Given the description of an element on the screen output the (x, y) to click on. 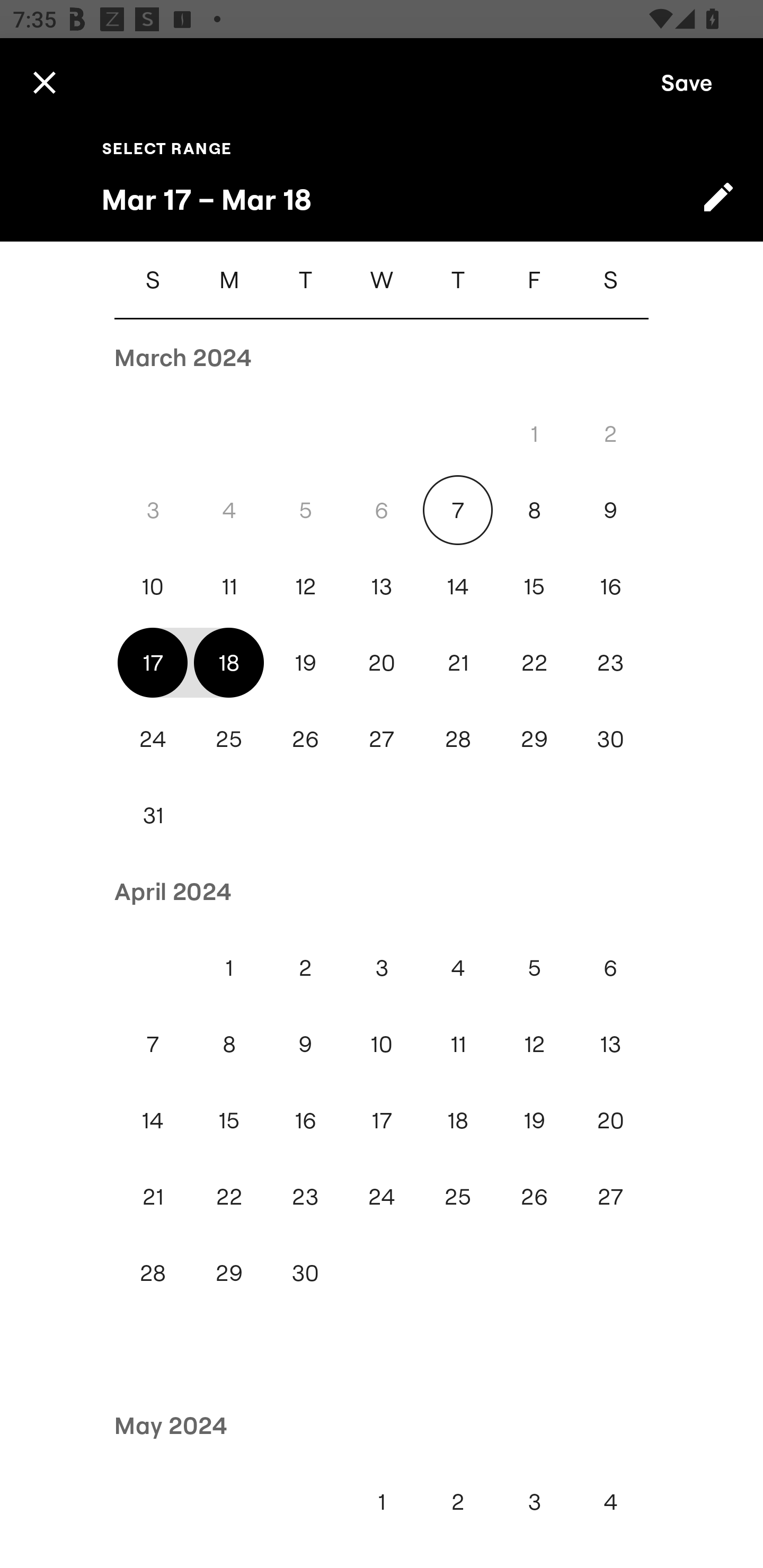
Cancel (44, 81)
Save (686, 81)
Switch to text input mode (718, 196)
1 Fri, Mar 1 (533, 433)
2 Sat, Mar 2 (610, 433)
3 Sun, Mar 3 (152, 509)
4 Mon, Mar 4 (228, 509)
5 Tue, Mar 5 (305, 509)
6 Wed, Mar 6 (381, 509)
7 Thu, Mar 7 (457, 509)
8 Fri, Mar 8 (533, 509)
9 Sat, Mar 9 (610, 509)
10 Sun, Mar 10 (152, 586)
11 Mon, Mar 11 (228, 586)
12 Tue, Mar 12 (305, 586)
13 Wed, Mar 13 (381, 586)
14 Thu, Mar 14 (457, 586)
15 Fri, Mar 15 (533, 586)
16 Sat, Mar 16 (610, 586)
17 Sun, Mar 17 (152, 662)
18 Mon, Mar 18 (228, 662)
19 Tue, Mar 19 (305, 662)
20 Wed, Mar 20 (381, 662)
21 Thu, Mar 21 (457, 662)
22 Fri, Mar 22 (533, 662)
23 Sat, Mar 23 (610, 662)
24 Sun, Mar 24 (152, 738)
25 Mon, Mar 25 (228, 738)
26 Tue, Mar 26 (305, 738)
27 Wed, Mar 27 (381, 738)
28 Thu, Mar 28 (457, 738)
29 Fri, Mar 29 (533, 738)
30 Sat, Mar 30 (610, 738)
31 Sun, Mar 31 (152, 814)
1 Mon, Apr 1 (228, 967)
2 Tue, Apr 2 (305, 967)
3 Wed, Apr 3 (381, 967)
4 Thu, Apr 4 (457, 967)
5 Fri, Apr 5 (533, 967)
6 Sat, Apr 6 (610, 967)
7 Sun, Apr 7 (152, 1043)
8 Mon, Apr 8 (228, 1043)
9 Tue, Apr 9 (305, 1043)
10 Wed, Apr 10 (381, 1043)
11 Thu, Apr 11 (457, 1043)
12 Fri, Apr 12 (533, 1043)
13 Sat, Apr 13 (610, 1043)
14 Sun, Apr 14 (152, 1119)
15 Mon, Apr 15 (228, 1119)
16 Tue, Apr 16 (305, 1119)
17 Wed, Apr 17 (381, 1119)
18 Thu, Apr 18 (457, 1119)
19 Fri, Apr 19 (533, 1119)
20 Sat, Apr 20 (610, 1119)
21 Sun, Apr 21 (152, 1196)
22 Mon, Apr 22 (228, 1196)
23 Tue, Apr 23 (305, 1196)
24 Wed, Apr 24 (381, 1196)
25 Thu, Apr 25 (457, 1196)
26 Fri, Apr 26 (533, 1196)
27 Sat, Apr 27 (610, 1196)
28 Sun, Apr 28 (152, 1272)
29 Mon, Apr 29 (228, 1272)
30 Tue, Apr 30 (305, 1272)
1 Wed, May 1 (381, 1500)
2 Thu, May 2 (457, 1500)
3 Fri, May 3 (533, 1500)
4 Sat, May 4 (610, 1500)
